Given the description of an element on the screen output the (x, y) to click on. 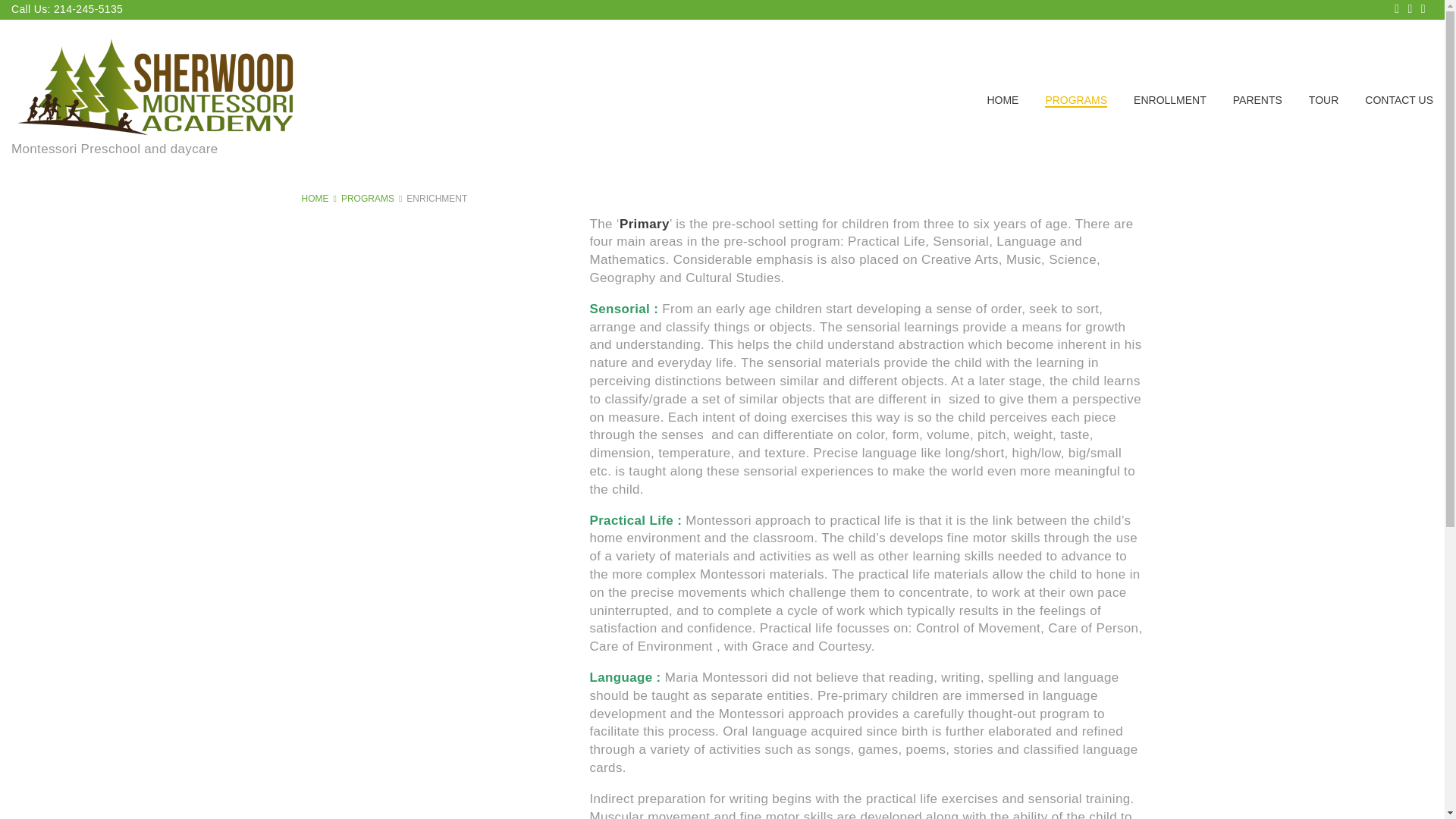
HOME (315, 198)
CONTACT US (1398, 100)
ENROLLMENT (1170, 100)
Programs (367, 198)
PROGRAMS (1075, 100)
PARENTS (1257, 100)
PROGRAMS (367, 198)
214-245-5135 (86, 9)
TOUR (1323, 100)
Home (315, 198)
HOME (1002, 100)
